Given the description of an element on the screen output the (x, y) to click on. 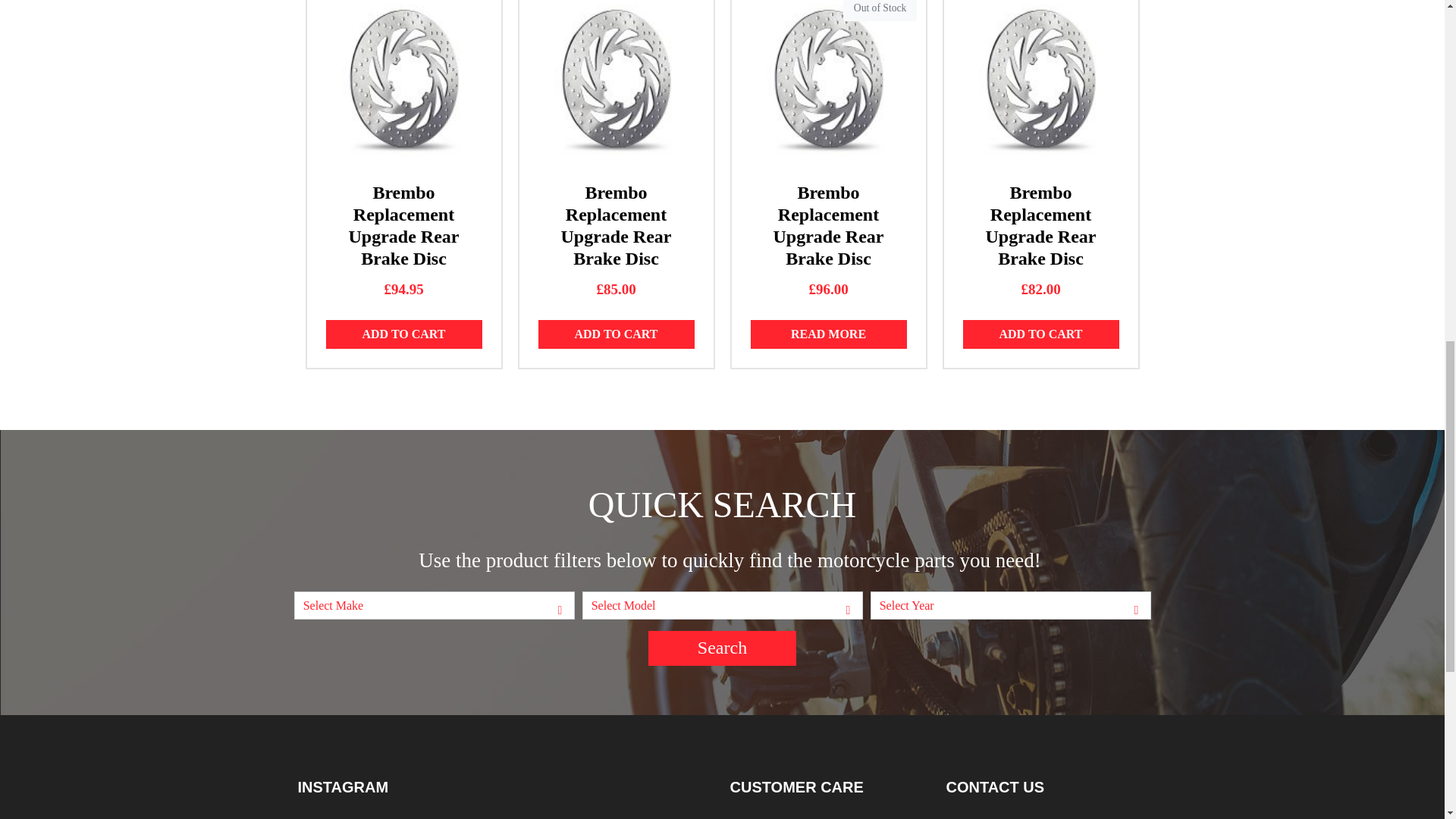
Select Model (721, 605)
Select Year (1010, 605)
Select Make (433, 605)
